Given the description of an element on the screen output the (x, y) to click on. 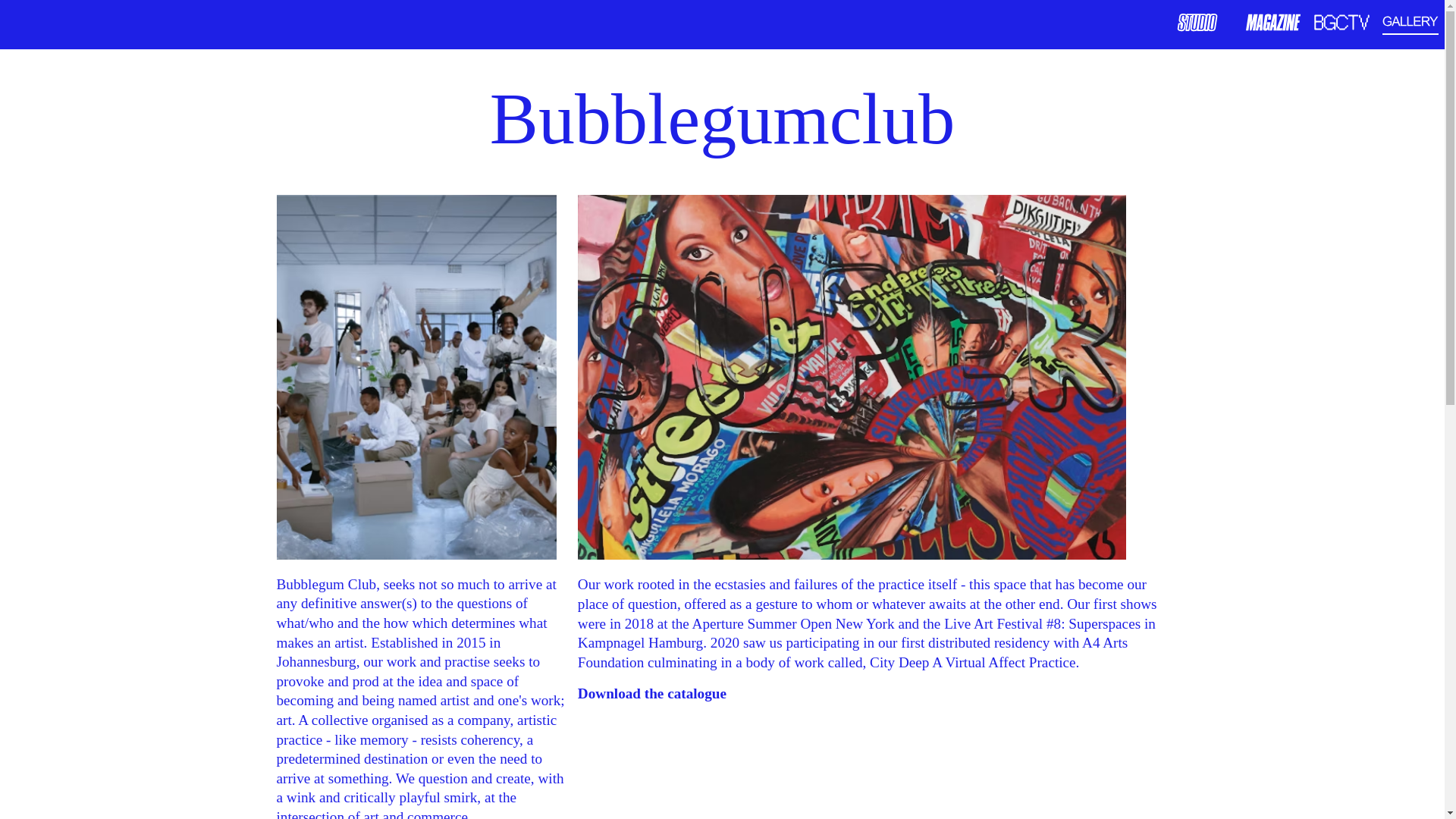
Bubblegum Gallery (1409, 21)
Bubblegum TV (1341, 21)
Bubblegum Studio (1204, 22)
Download the catalogue (652, 693)
Bubblegum Magazine (1272, 22)
